Given the description of an element on the screen output the (x, y) to click on. 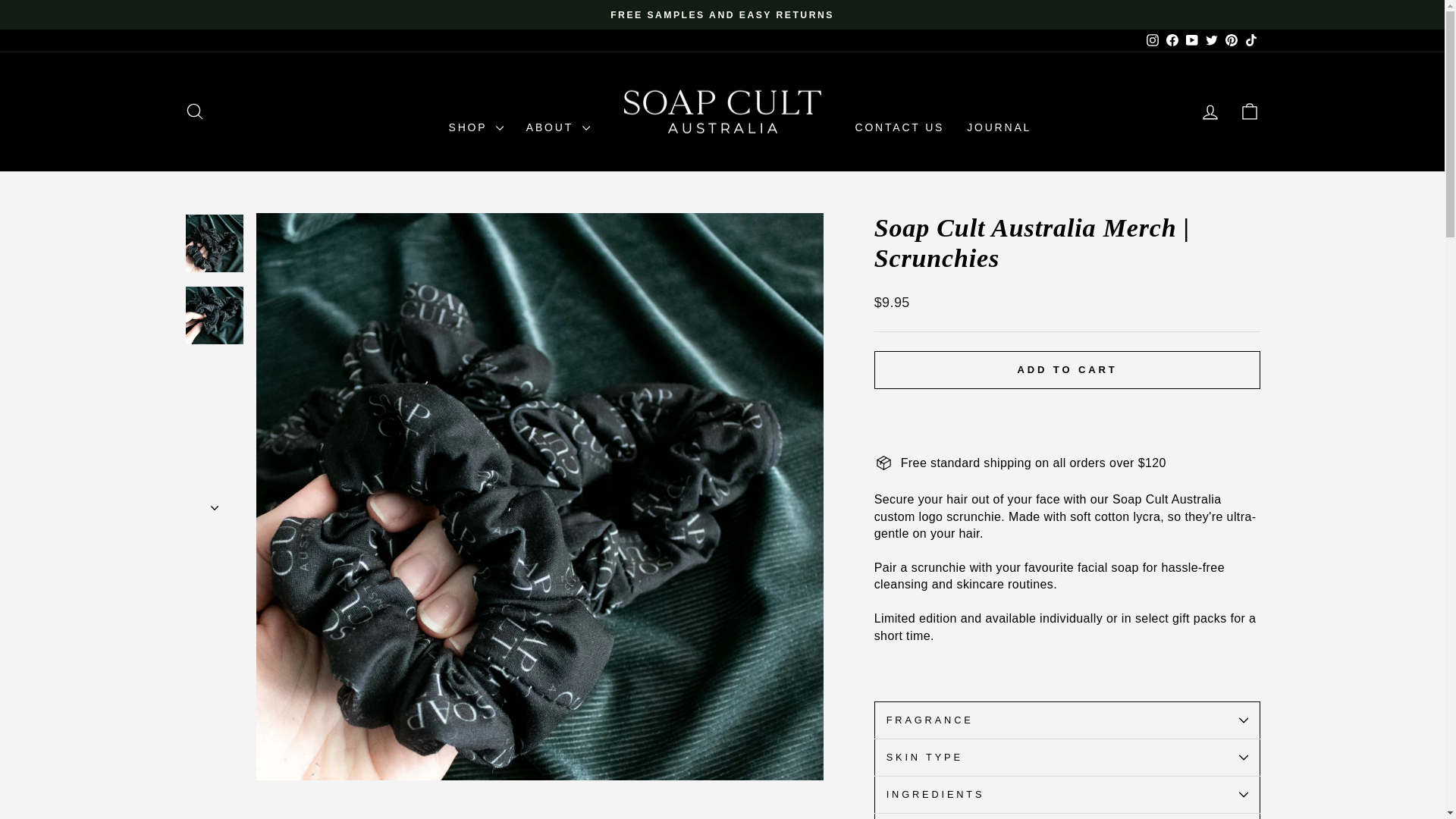
ICON-SEARCH (194, 111)
Soap Cult Australia on Instagram (1151, 40)
Soap Cult Australia on YouTube (1190, 40)
ICON-BAG-MINIMAL (1249, 111)
instagram (1152, 39)
Soap Cult Australia on TikTok (1250, 40)
twitter (1211, 39)
Soap Cult Australia on Facebook (1170, 40)
ACCOUNT (1210, 111)
